Given the description of an element on the screen output the (x, y) to click on. 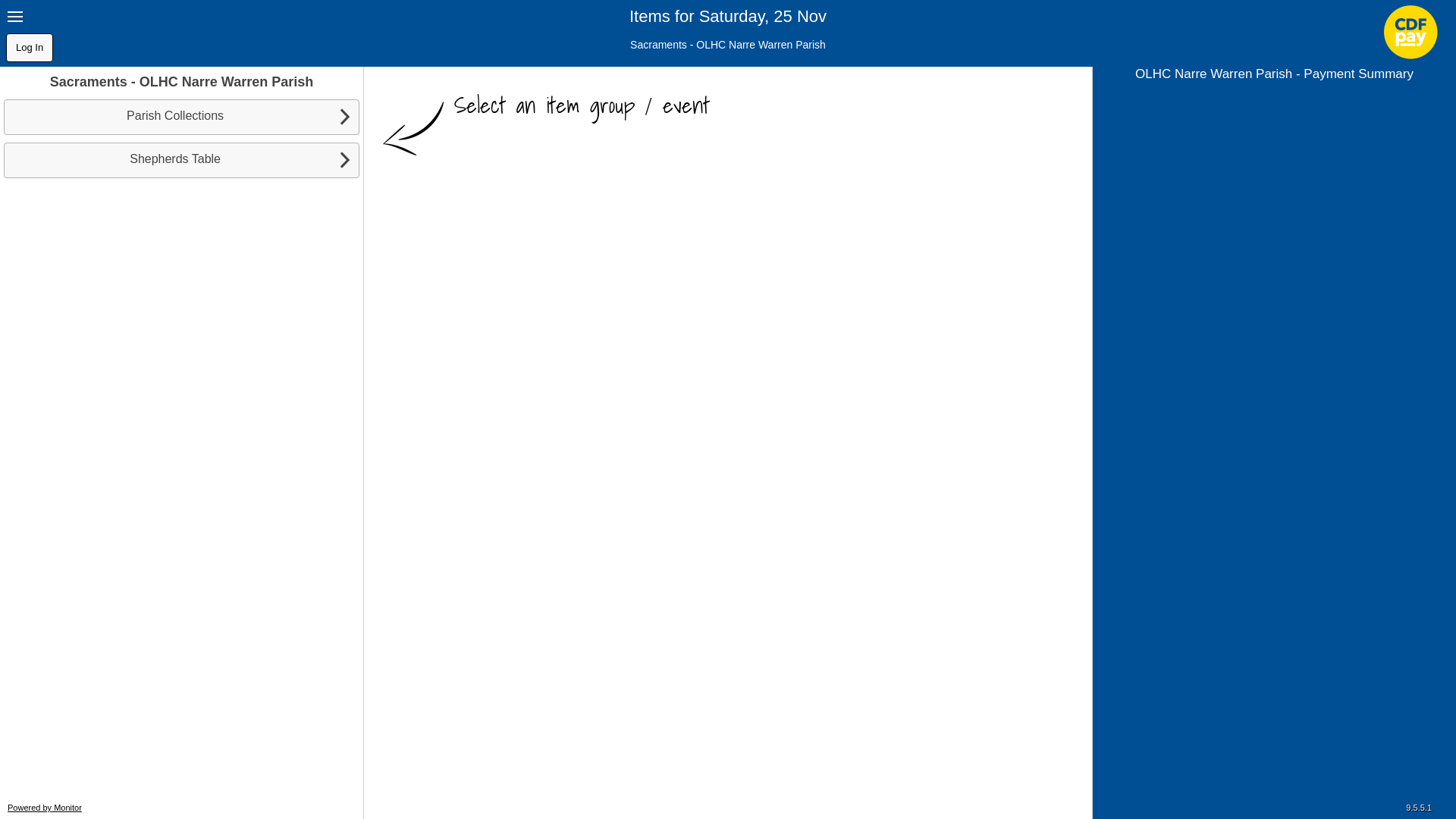
Powered by Monitor Element type: text (44, 807)
Log In Element type: text (29, 47)
